Given the description of an element on the screen output the (x, y) to click on. 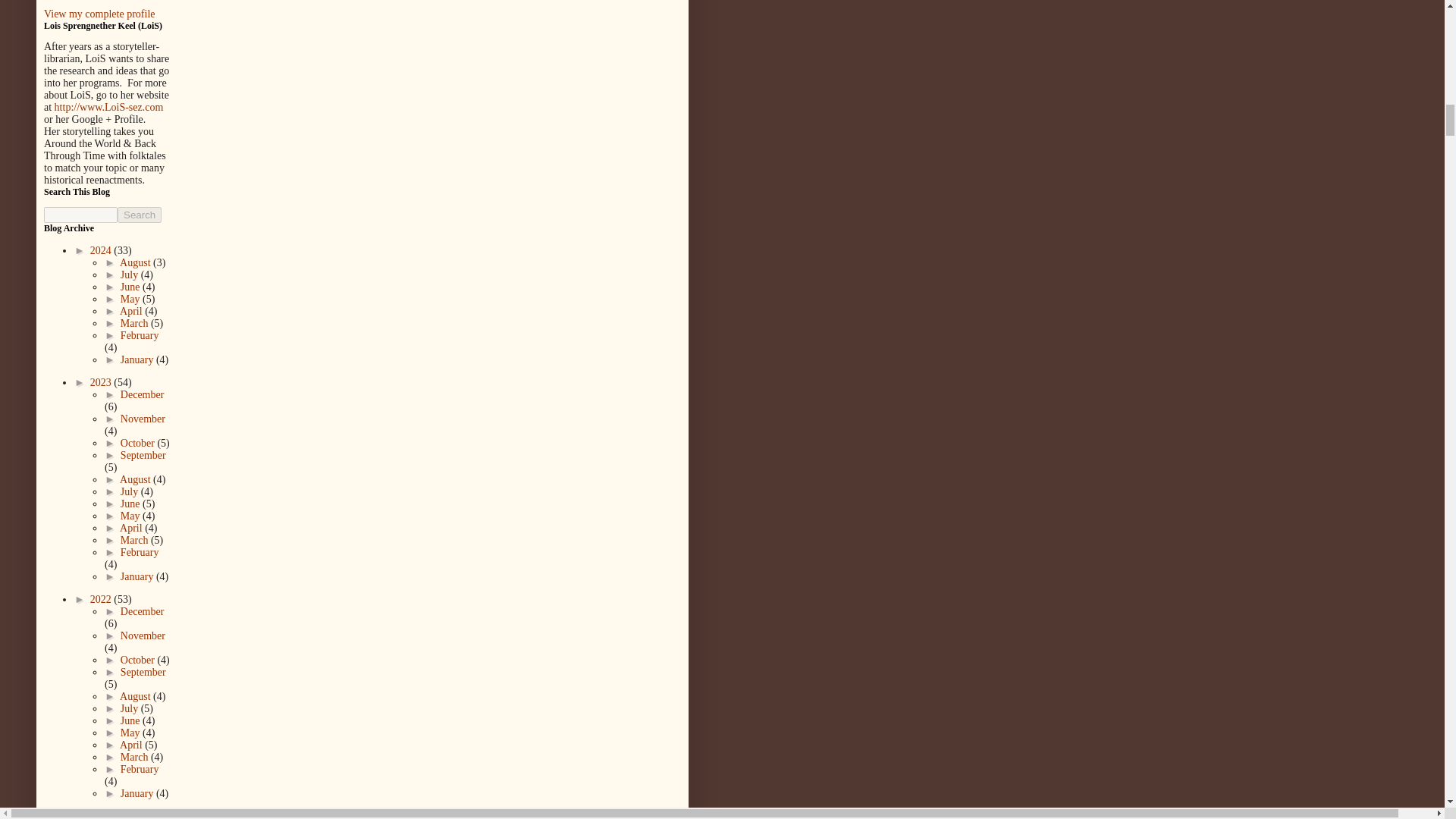
search (139, 214)
Search (139, 214)
search (80, 214)
Search (139, 214)
